Given the description of an element on the screen output the (x, y) to click on. 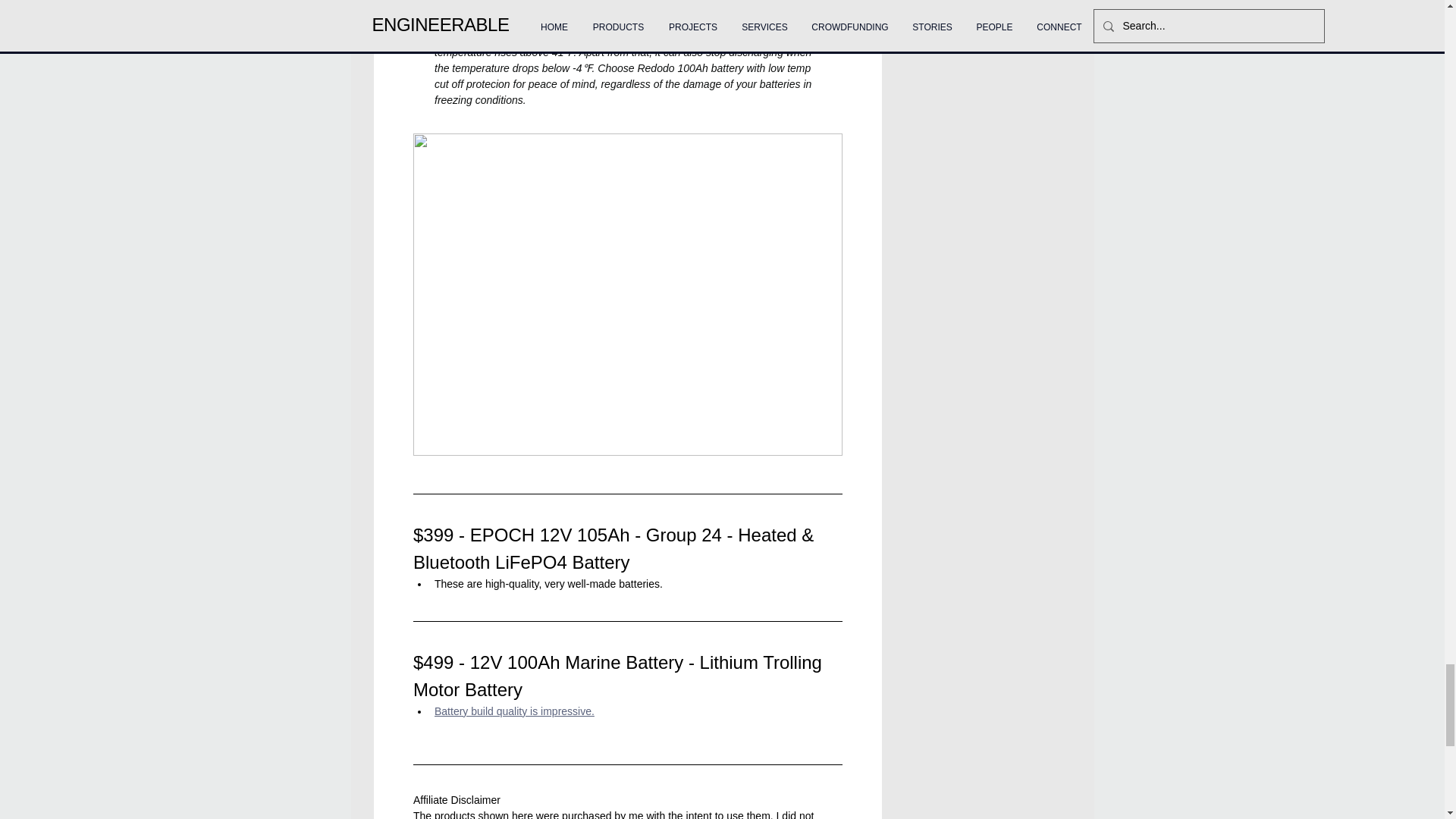
Battery build quality is impressive. (513, 711)
